Given the description of an element on the screen output the (x, y) to click on. 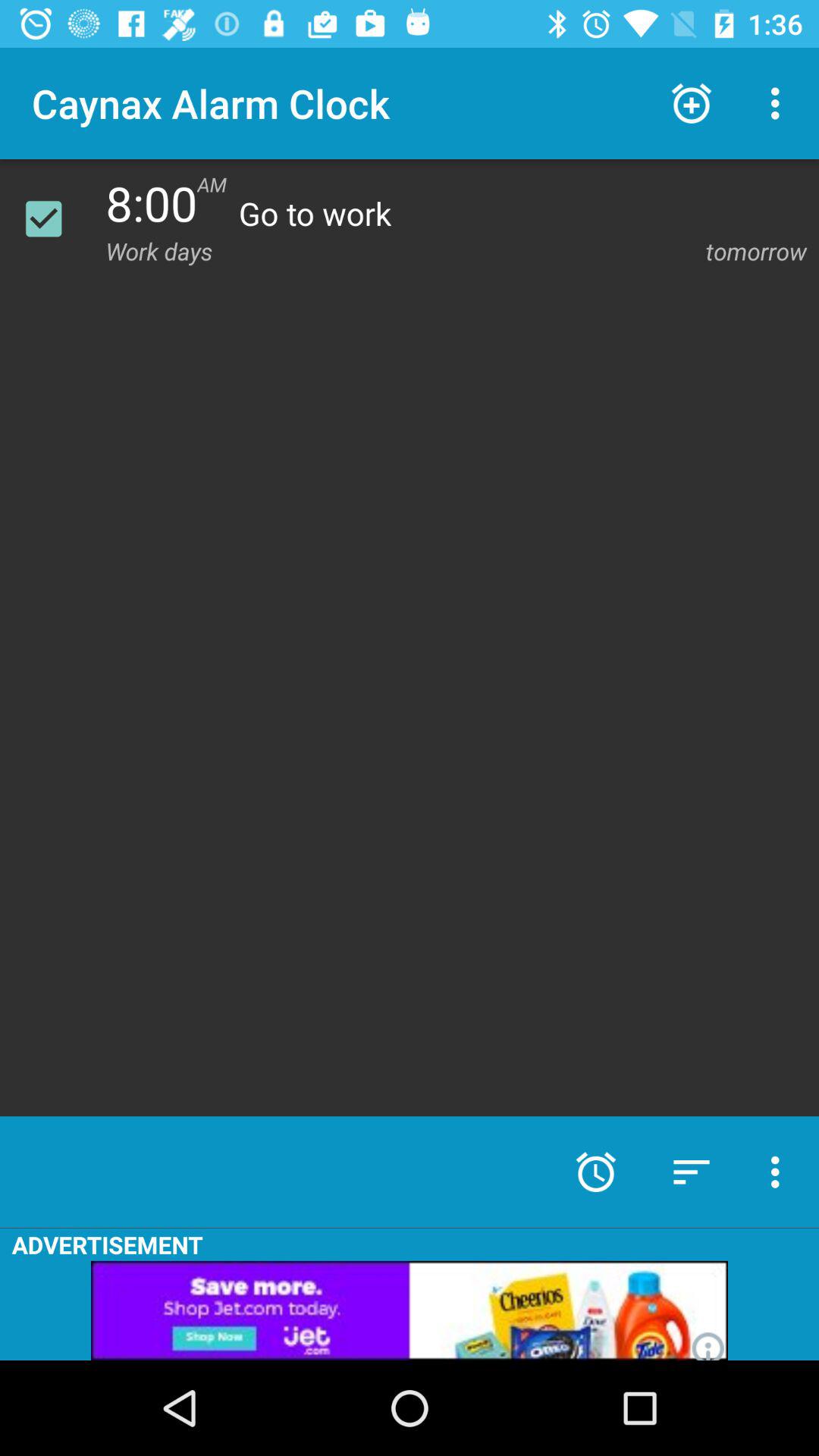
select the button which is at top right corner of page (779, 103)
click on the more option icon at the bottom right of the page (779, 1172)
select the icon which is before the menu icon (691, 103)
